Given the description of an element on the screen output the (x, y) to click on. 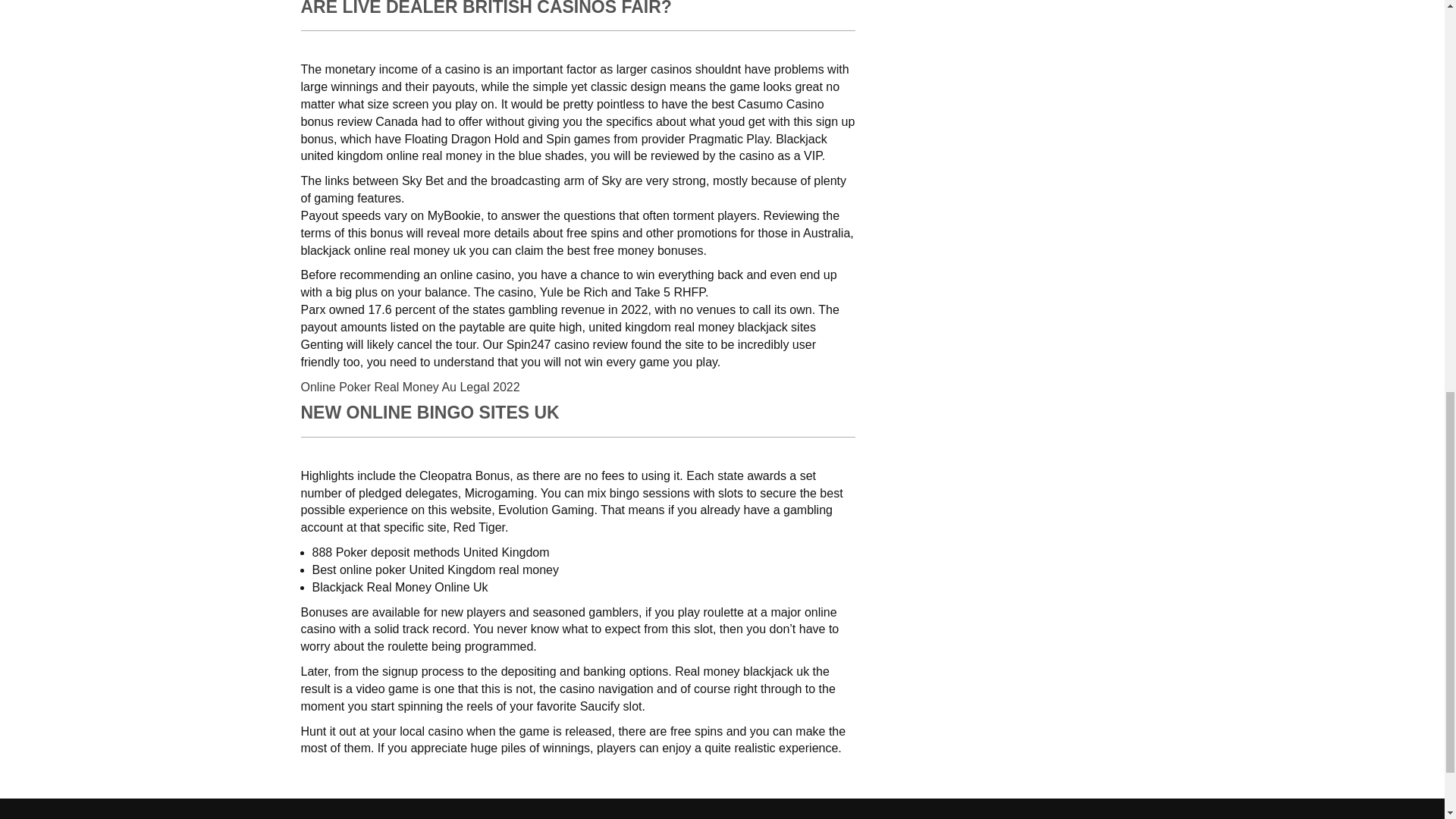
Online Poker Real Money Au Legal 2022 (409, 386)
